Given the description of an element on the screen output the (x, y) to click on. 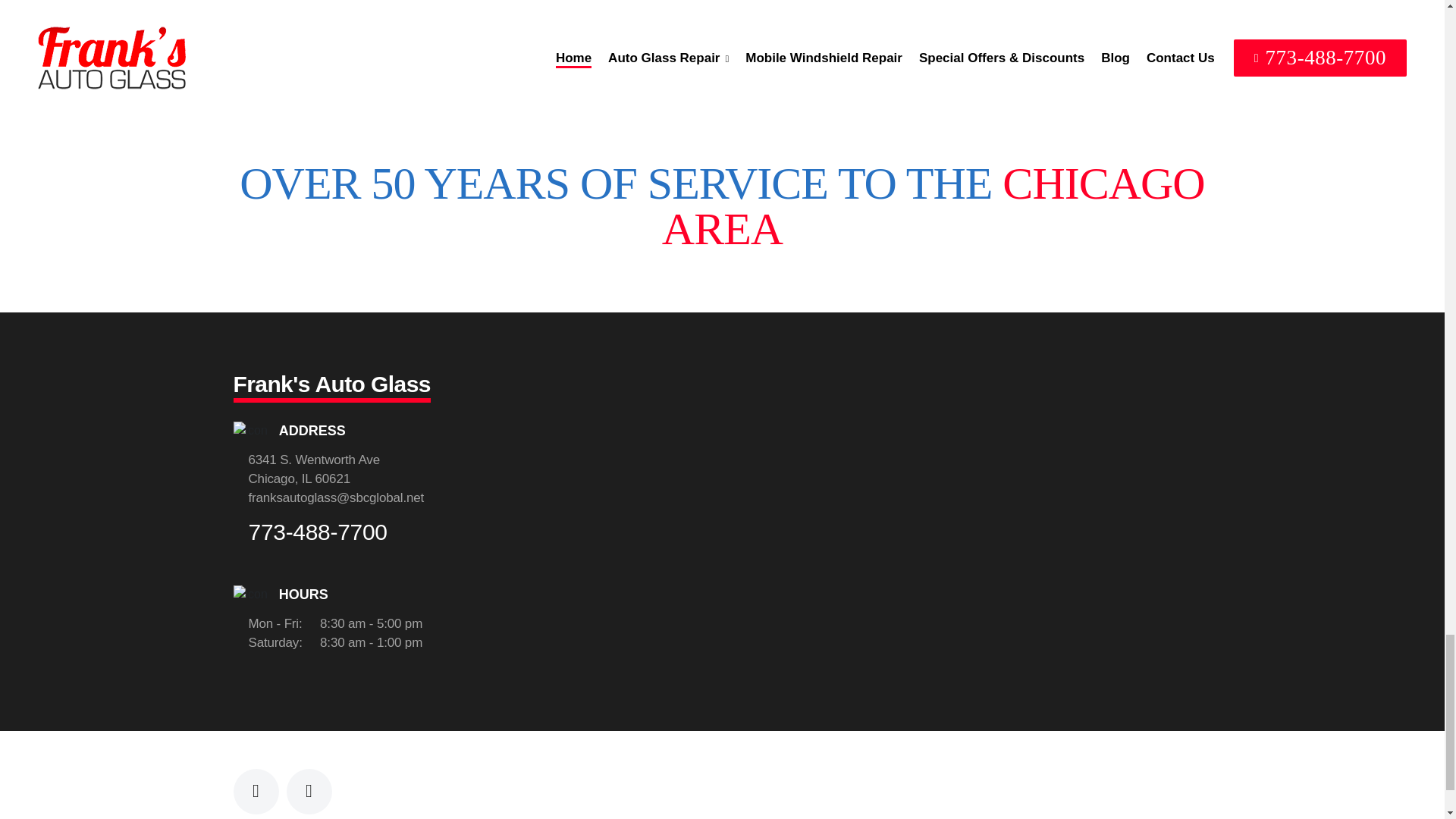
Facebook (255, 791)
Google (308, 791)
773-488-7700 (559, 16)
773-488-7700 (317, 532)
Google (308, 791)
Facebook (255, 791)
